Given the description of an element on the screen output the (x, y) to click on. 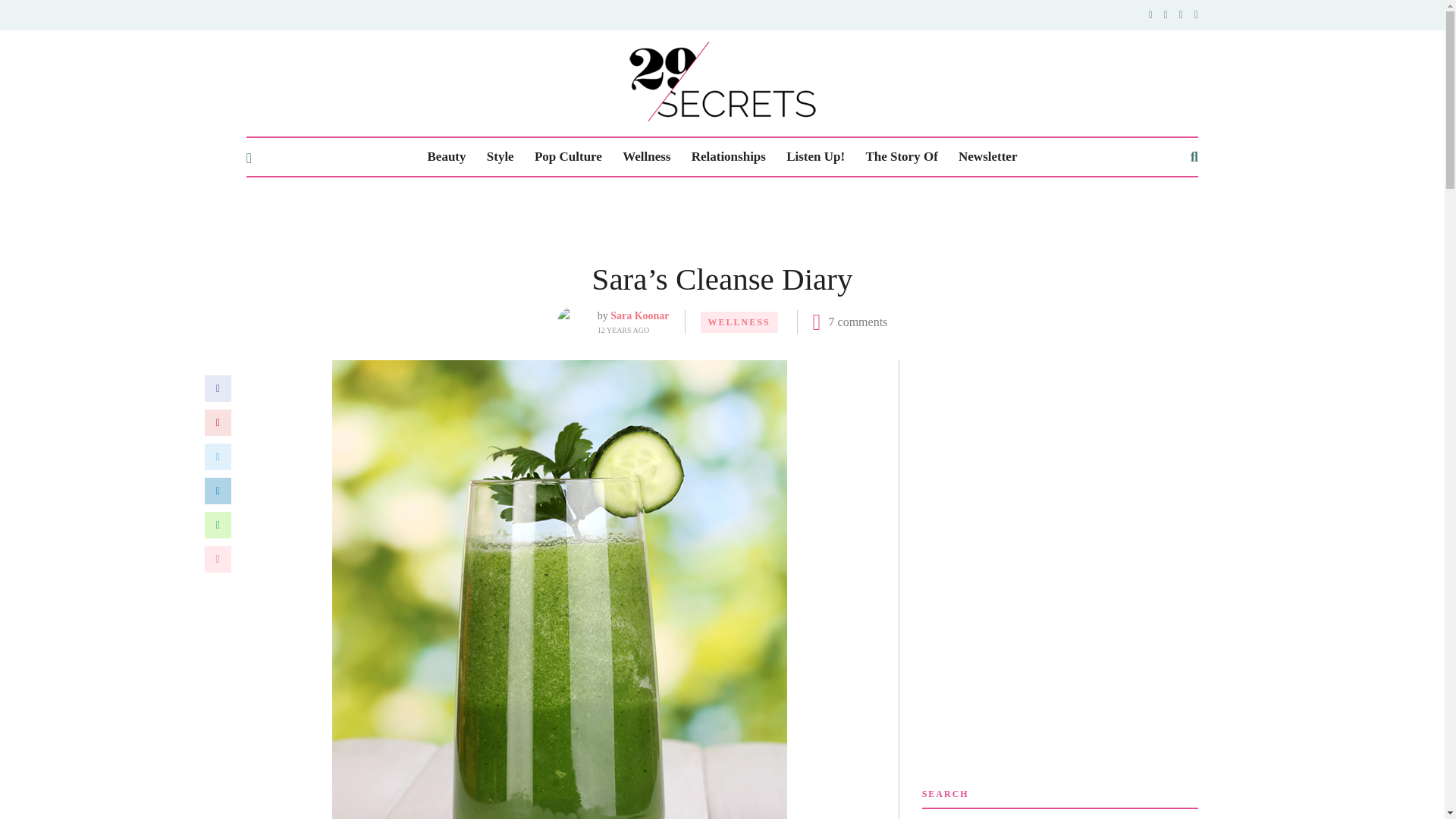
Search (1120, 779)
Newsletter (987, 89)
The Story Of (900, 89)
Wellness (646, 89)
Listen Up! (815, 89)
29Secrets (722, 47)
Sara Koonar (639, 247)
7 comments (858, 254)
Search (1120, 779)
WELLNESS (738, 254)
